Given the description of an element on the screen output the (x, y) to click on. 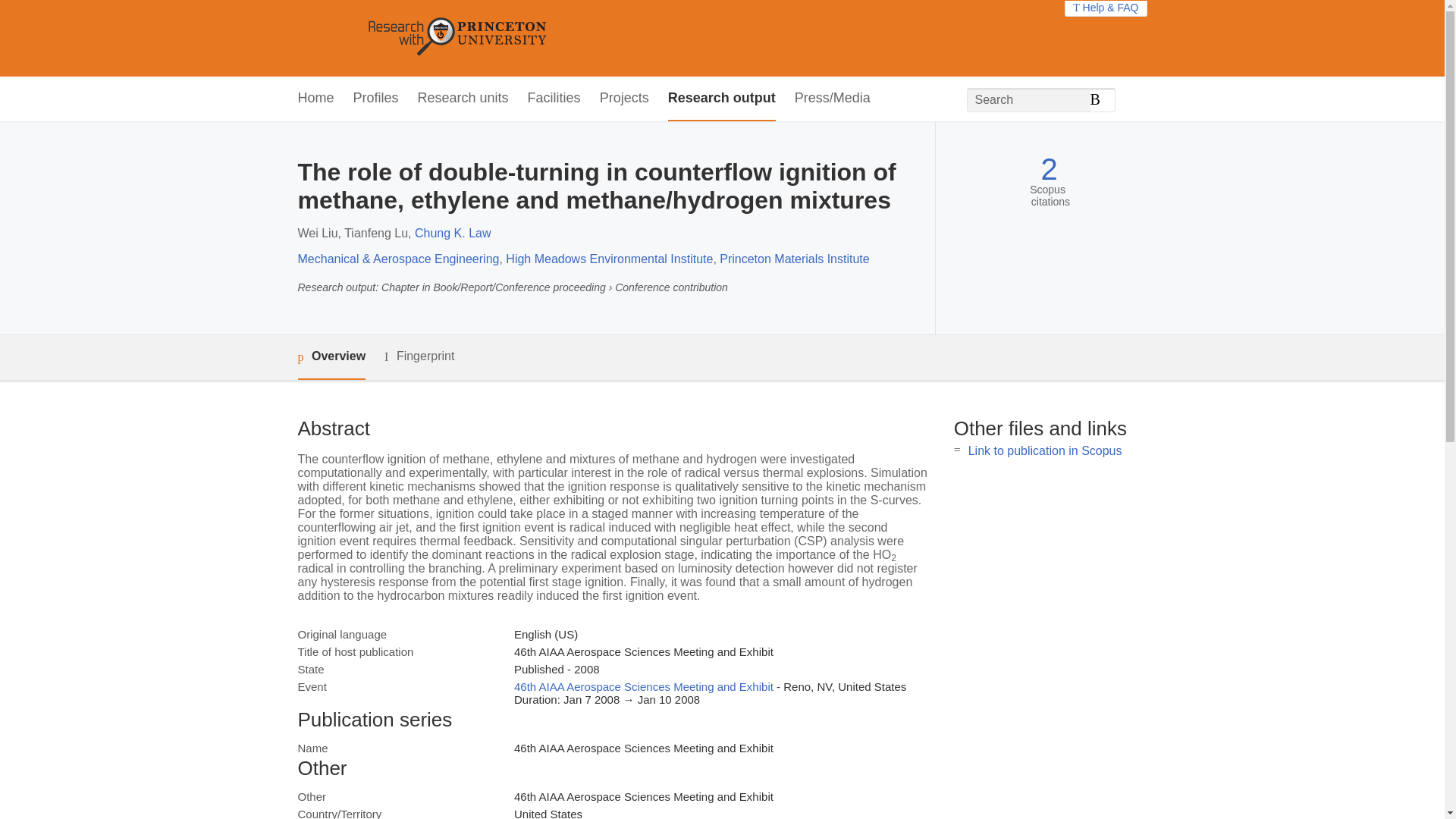
Princeton Materials Institute (794, 258)
Fingerprint (419, 356)
Research output (722, 98)
Chung K. Law (453, 232)
Facilities (553, 98)
Overview (331, 357)
High Meadows Environmental Institute (609, 258)
Princeton University Home (567, 38)
Projects (624, 98)
